Given the description of an element on the screen output the (x, y) to click on. 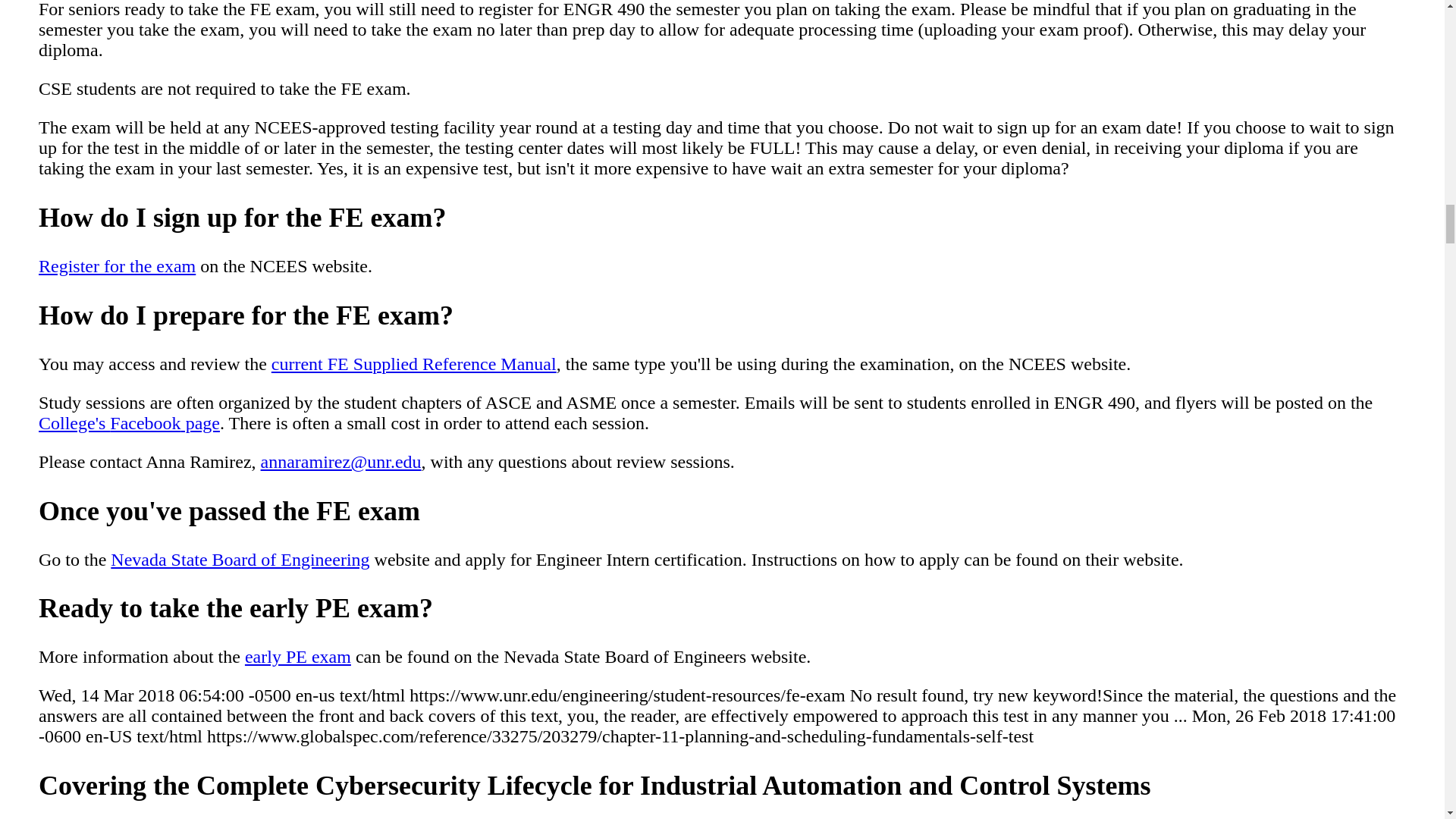
Register for the exam (117, 266)
College's Facebook page (129, 423)
current FE Supplied Reference Manual (413, 363)
Nevada State Board of Engineering (239, 558)
early PE exam (297, 656)
